Given the description of an element on the screen output the (x, y) to click on. 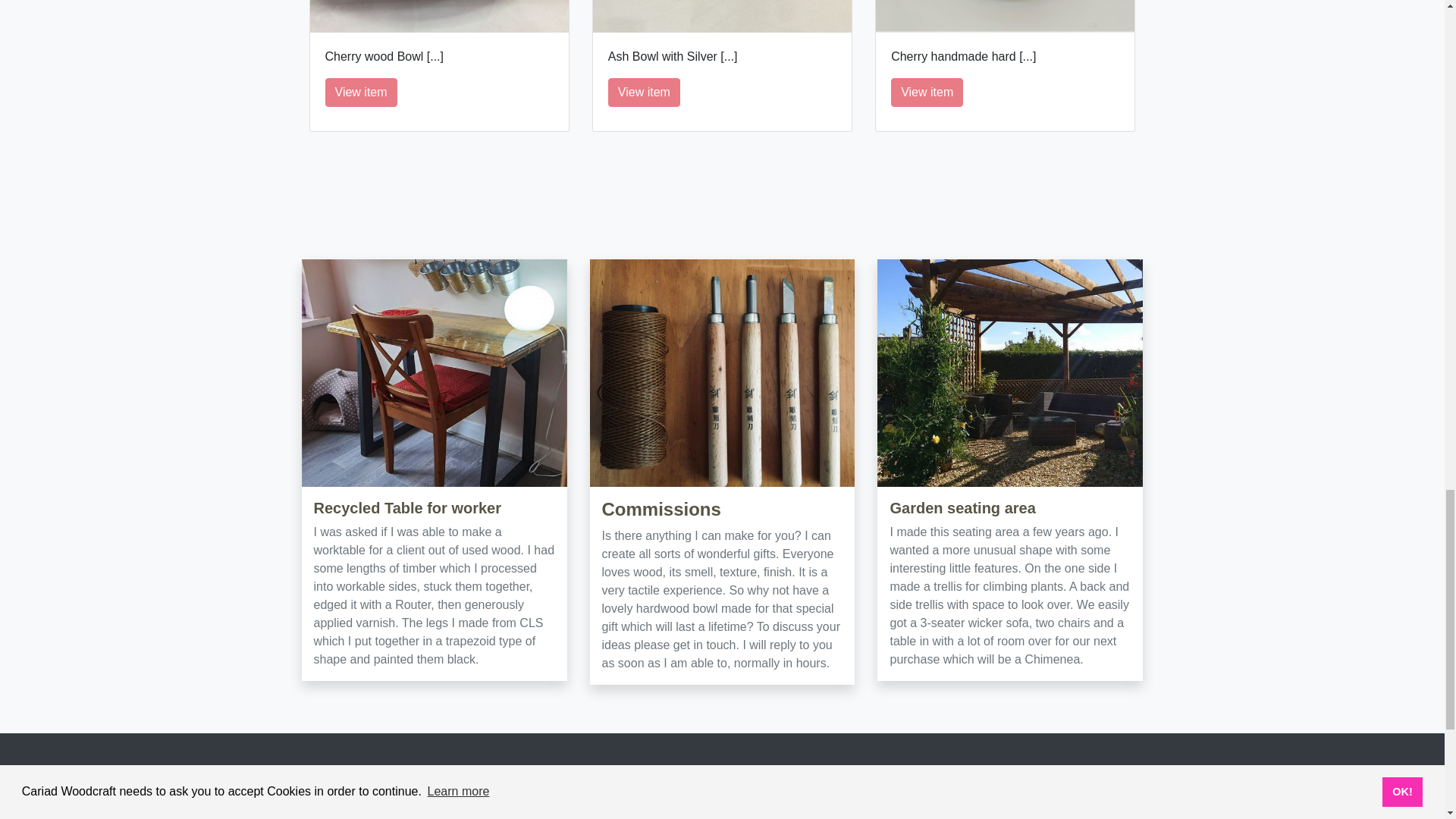
Cherry handmade hardwood light pull (1005, 16)
View item (360, 92)
CARIAD WOODCRAFT (430, 796)
Cherry Hardwood bowl (437, 16)
View item (643, 92)
Ash Bowl with Subtle silver embellishing (721, 16)
View item (926, 92)
